Given the description of an element on the screen output the (x, y) to click on. 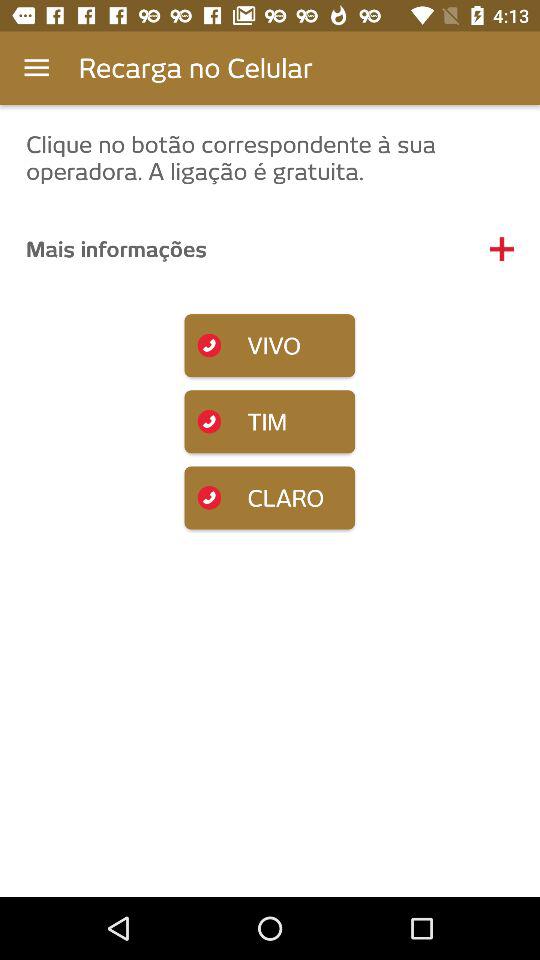
press the icon above the claro (269, 421)
